Given the description of an element on the screen output the (x, y) to click on. 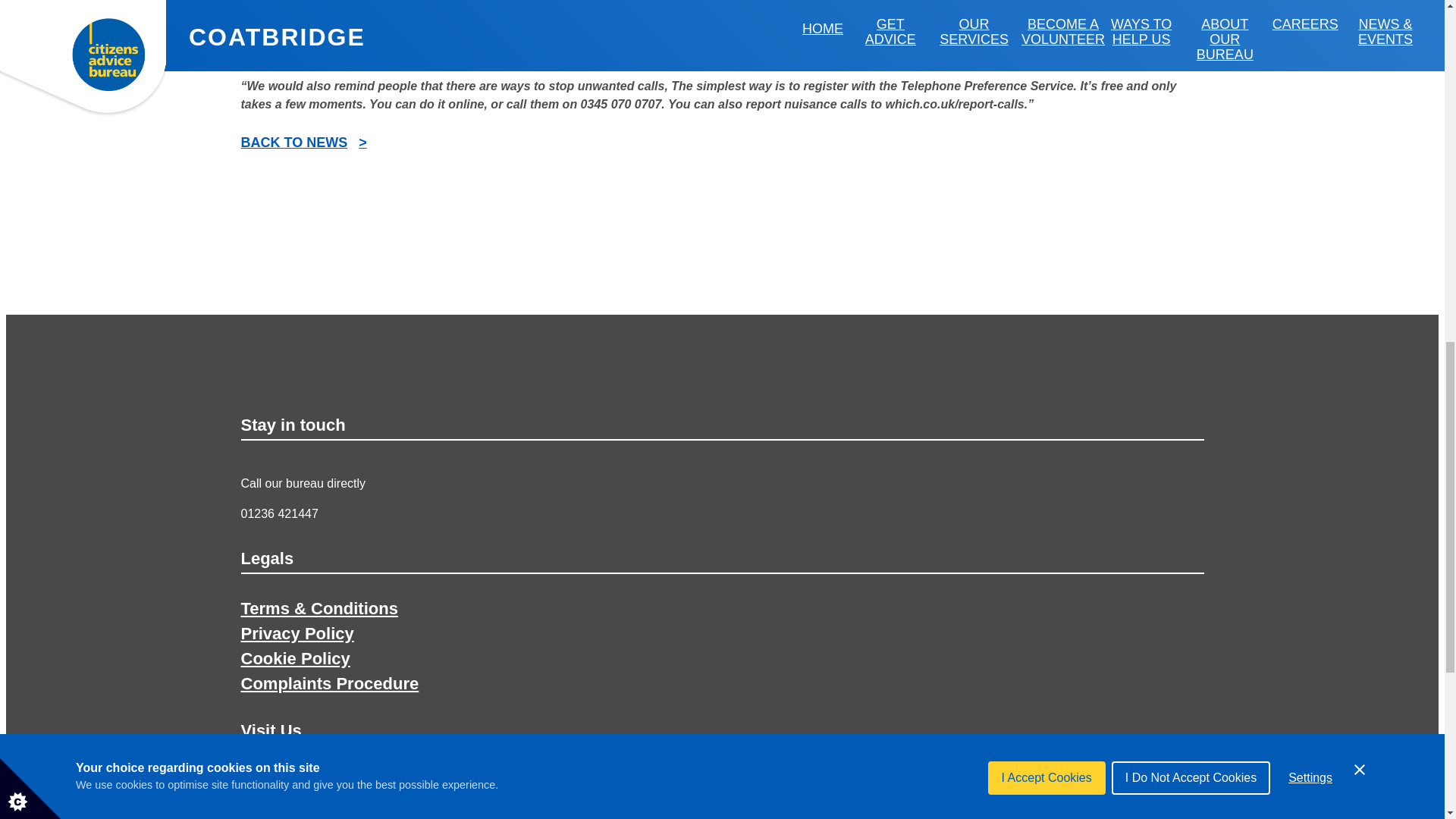
I Accept Cookies (1046, 24)
Cookie Policy (295, 658)
I Do Not Accept Cookies (1190, 12)
Privacy Policy (297, 632)
BACK TO NEWS (303, 142)
Settings (1309, 8)
Complaints Procedure (330, 682)
